Given the description of an element on the screen output the (x, y) to click on. 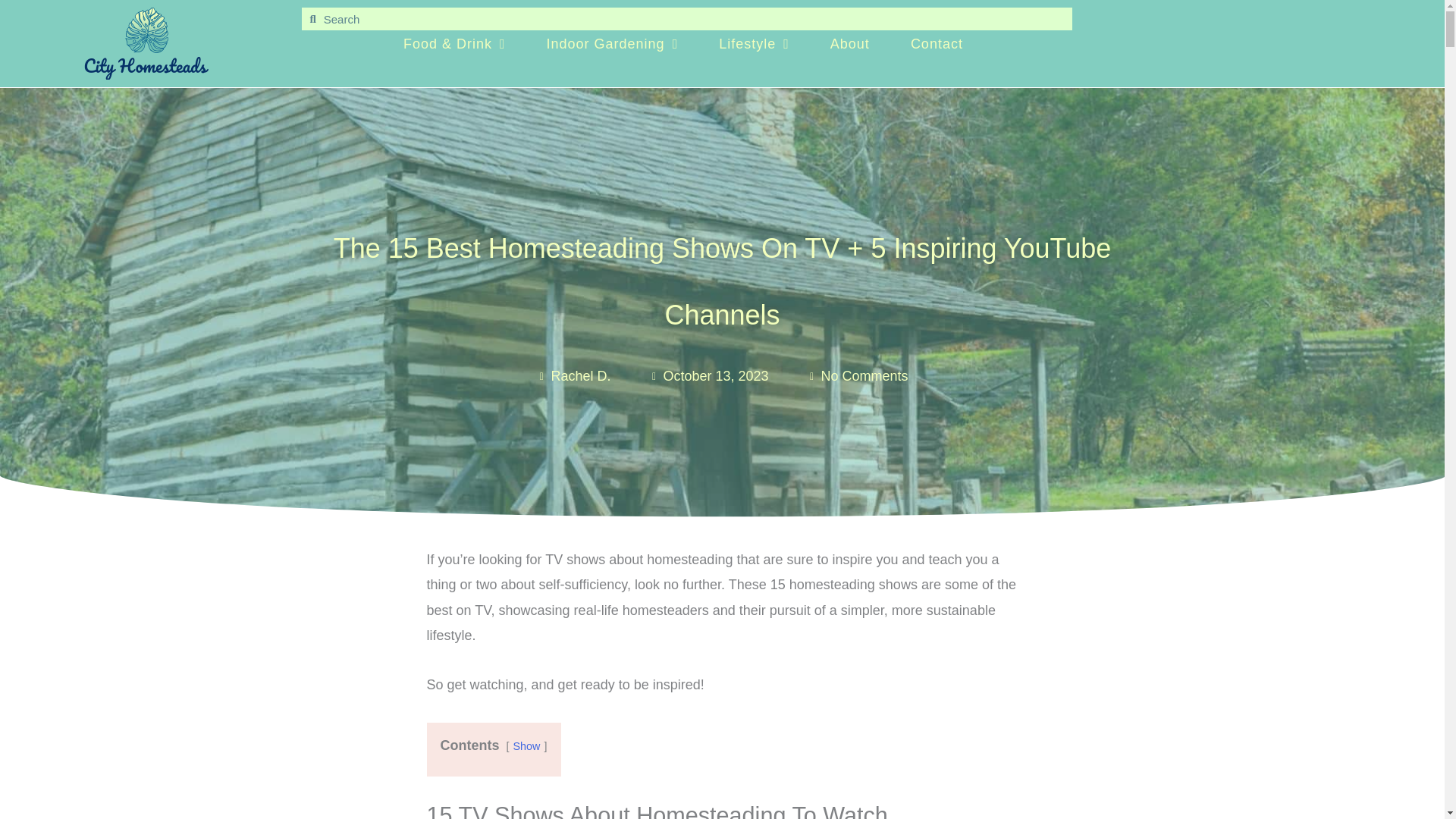
Indoor Gardening (612, 43)
Lifestyle (753, 43)
Contact (936, 43)
cropped-cityhomesteadlogo.png (146, 43)
About (849, 43)
